Given the description of an element on the screen output the (x, y) to click on. 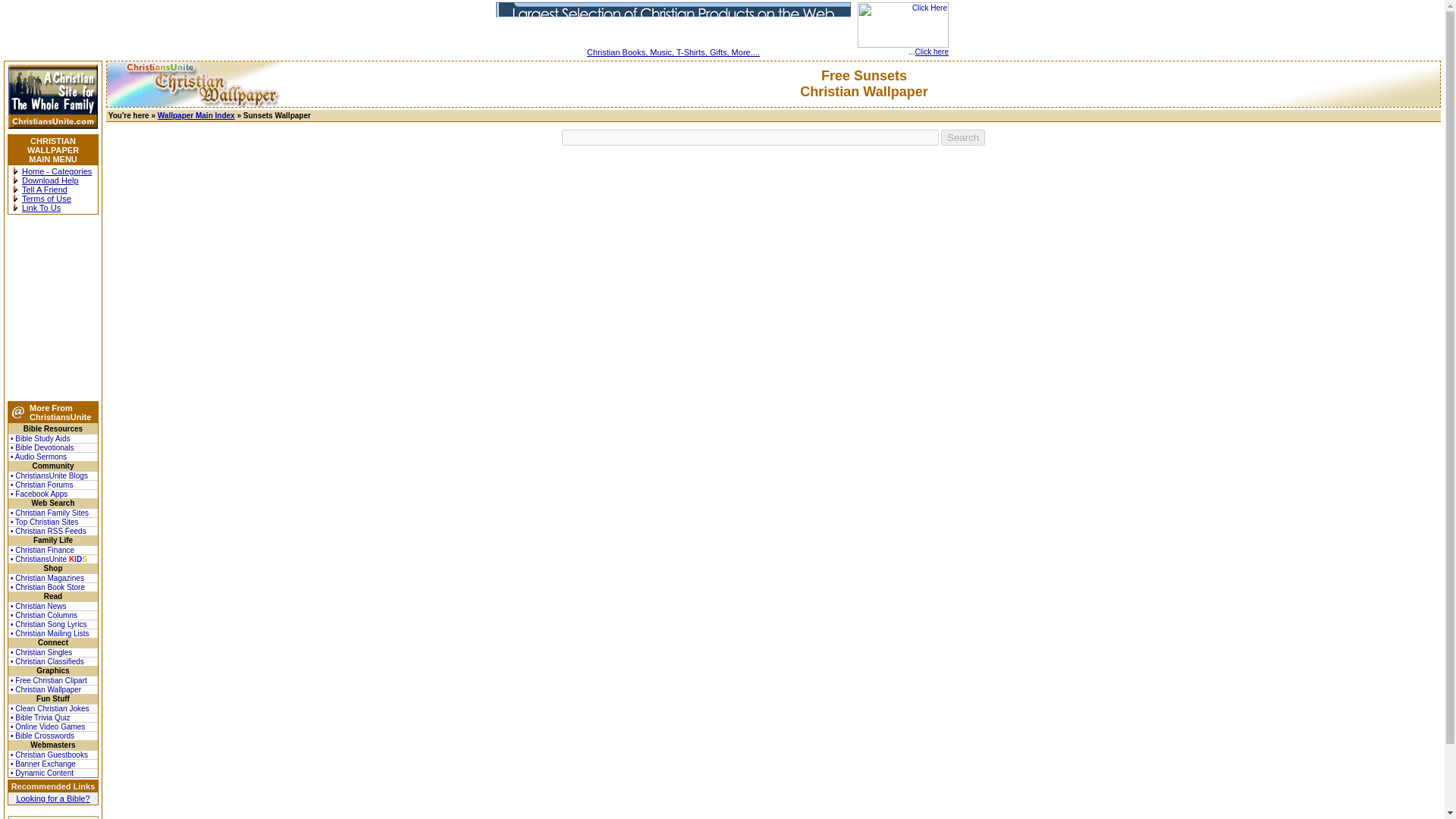
Home - Categories (56, 171)
Download Help (49, 180)
Click here (932, 51)
Wallpaper Main Index (195, 115)
Search (962, 137)
Looking for a Bible? (52, 798)
Tell A Friend (43, 189)
Search (962, 137)
Link To Us (41, 207)
Terms of Use (46, 198)
